Given the description of an element on the screen output the (x, y) to click on. 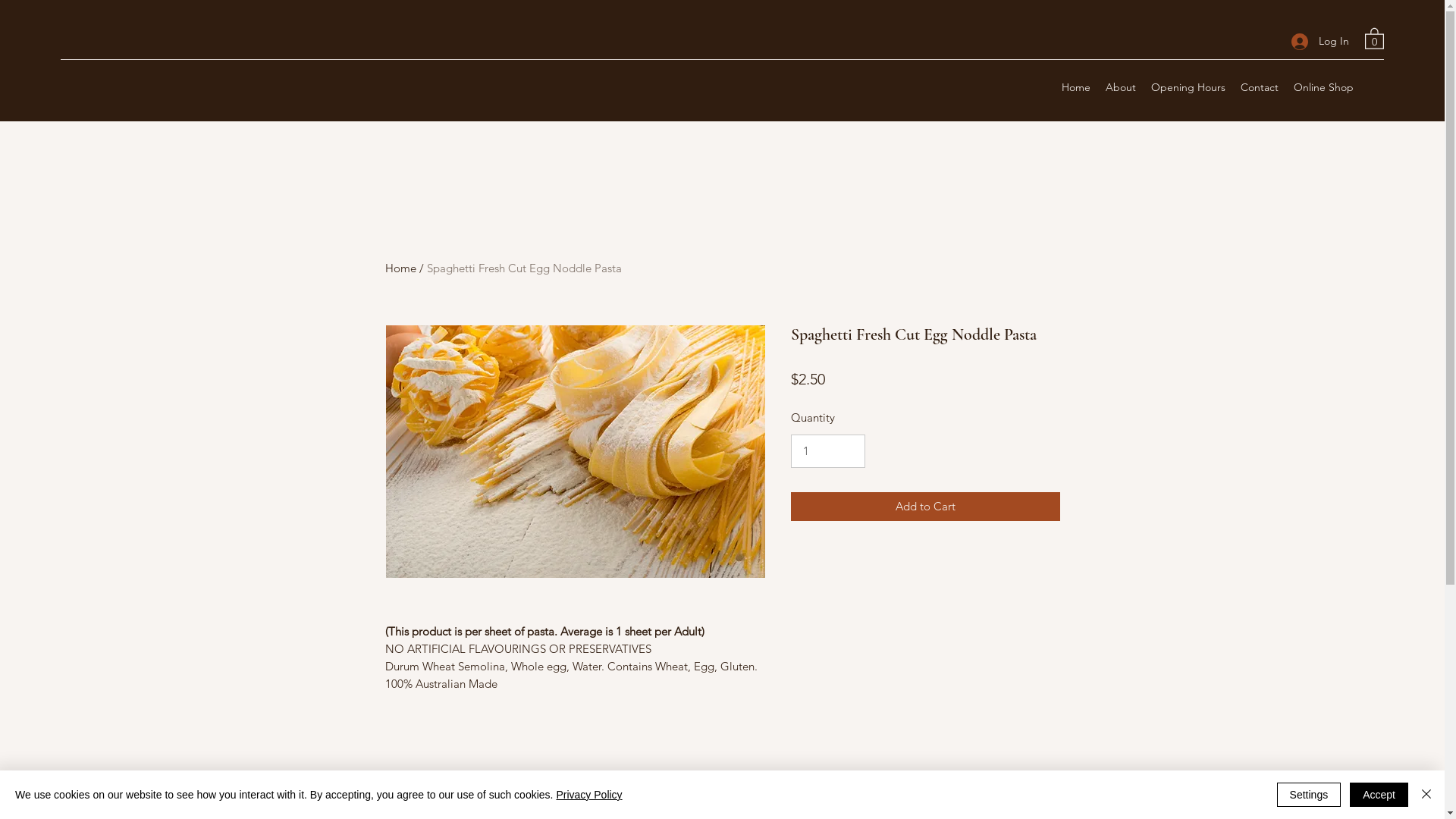
Home Element type: text (400, 267)
Accept Element type: text (1378, 794)
0 Element type: text (1374, 37)
Online Shop Element type: text (1323, 86)
Add to Cart Element type: text (924, 506)
Privacy Policy Element type: text (588, 794)
About Element type: text (1120, 86)
Spaghetti Fresh Cut Egg Noddle Pasta Element type: text (523, 267)
Log In Element type: text (1319, 41)
Settings Element type: text (1309, 794)
Contact Element type: text (1259, 86)
Home Element type: text (1076, 86)
Opening Hours Element type: text (1188, 86)
